Given the description of an element on the screen output the (x, y) to click on. 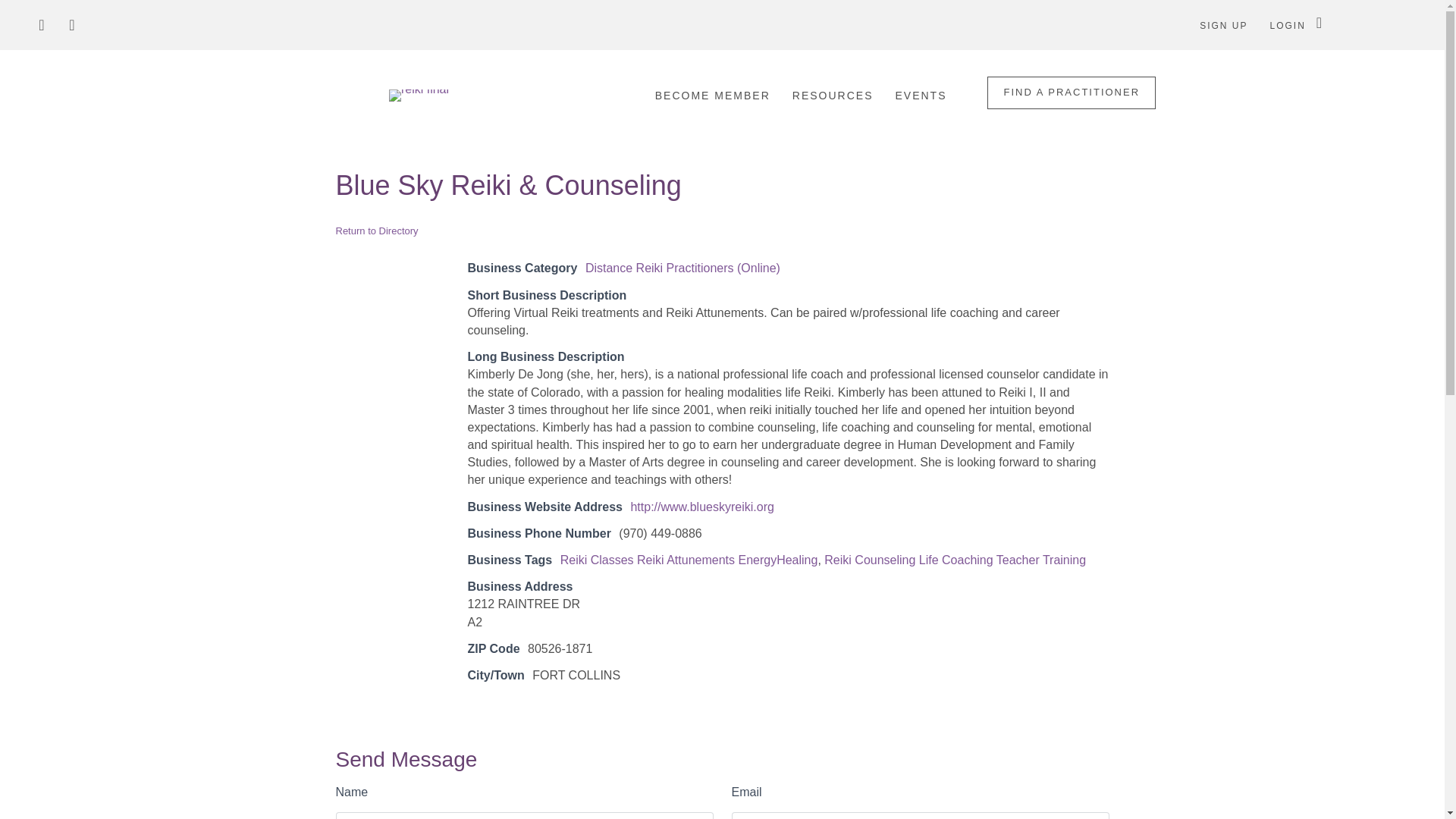
YouTube (71, 24)
LOGIN (1287, 25)
RESOURCES (832, 95)
BECOME MEMBER (712, 95)
FIND A PRACTITIONER (1071, 92)
Return to Directory (375, 230)
Reiki Counseling Life Coaching Teacher Training (955, 559)
EVENTS (919, 95)
reiki final (418, 95)
Facebook (41, 24)
SIGN UP (1223, 25)
Reiki Classes Reiki Attunements EnergyHealing (689, 559)
